Given the description of an element on the screen output the (x, y) to click on. 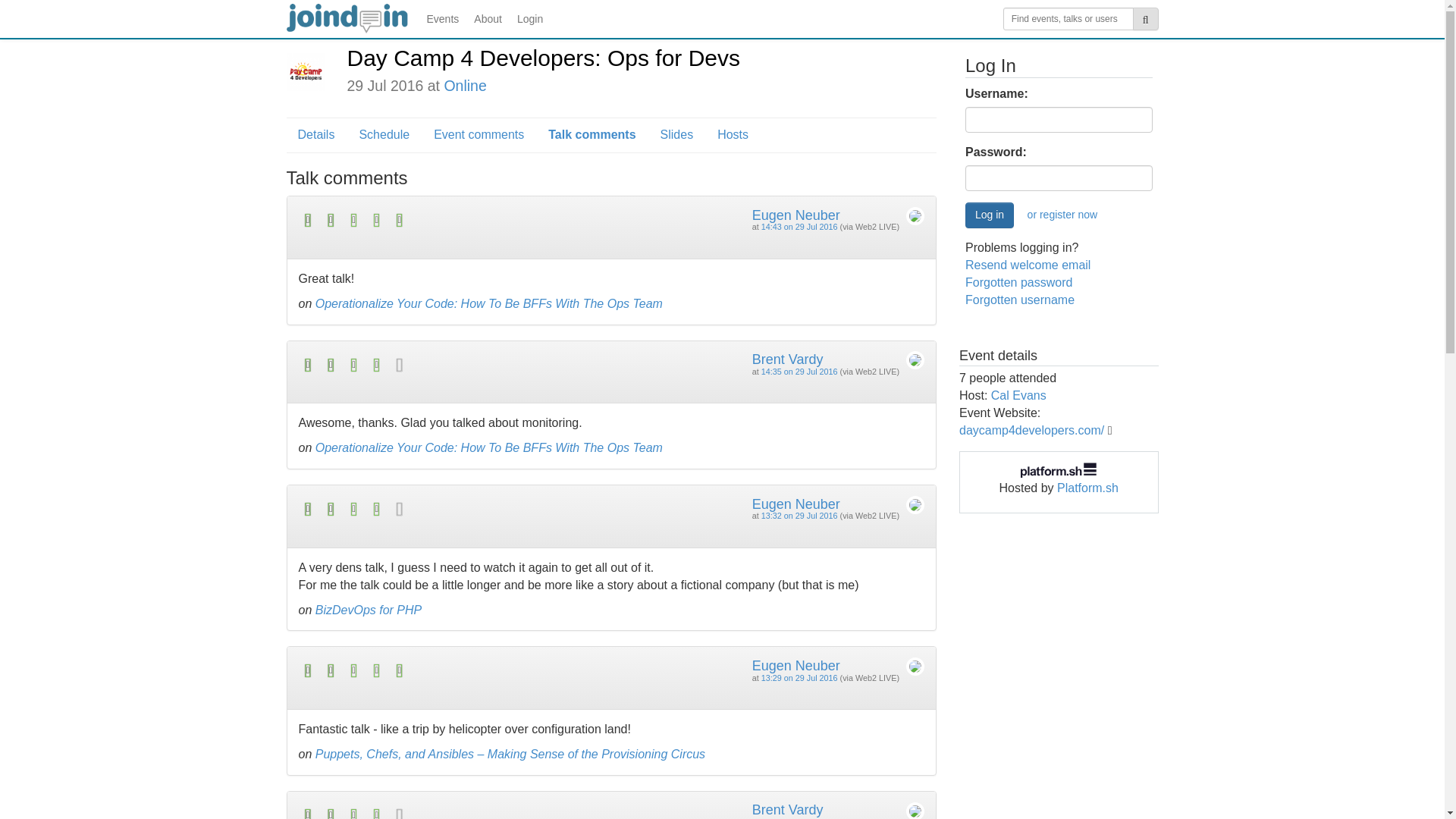
13:29 on 29 Jul 2016 (799, 677)
14:43 on 29 Jul 2016 (799, 225)
Rated 5 (454, 220)
Operationalize Your Code: How To Be BFFs With The Ops Team (488, 303)
Rated 4 (454, 508)
Slides (676, 134)
Eugen Neuber (796, 215)
Schedule (383, 134)
BizDevOps for PHP (368, 609)
13:16 on 29 Jul 2016 (799, 818)
